Given the description of an element on the screen output the (x, y) to click on. 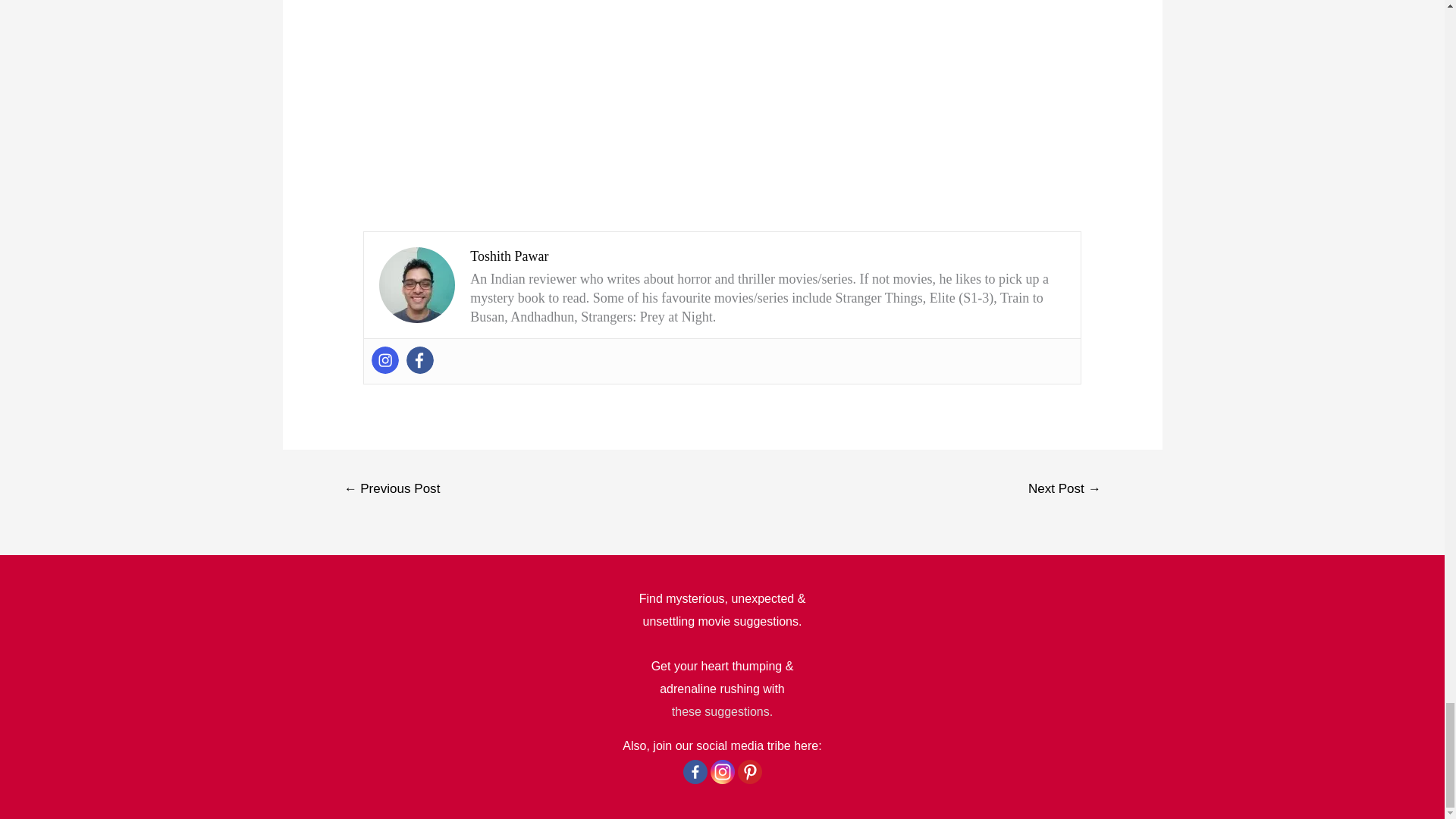
these suggestions. (722, 711)
Instagram (721, 771)
Facebook (694, 771)
Toshith Pawar (509, 255)
Pinterest (748, 771)
